Given the description of an element on the screen output the (x, y) to click on. 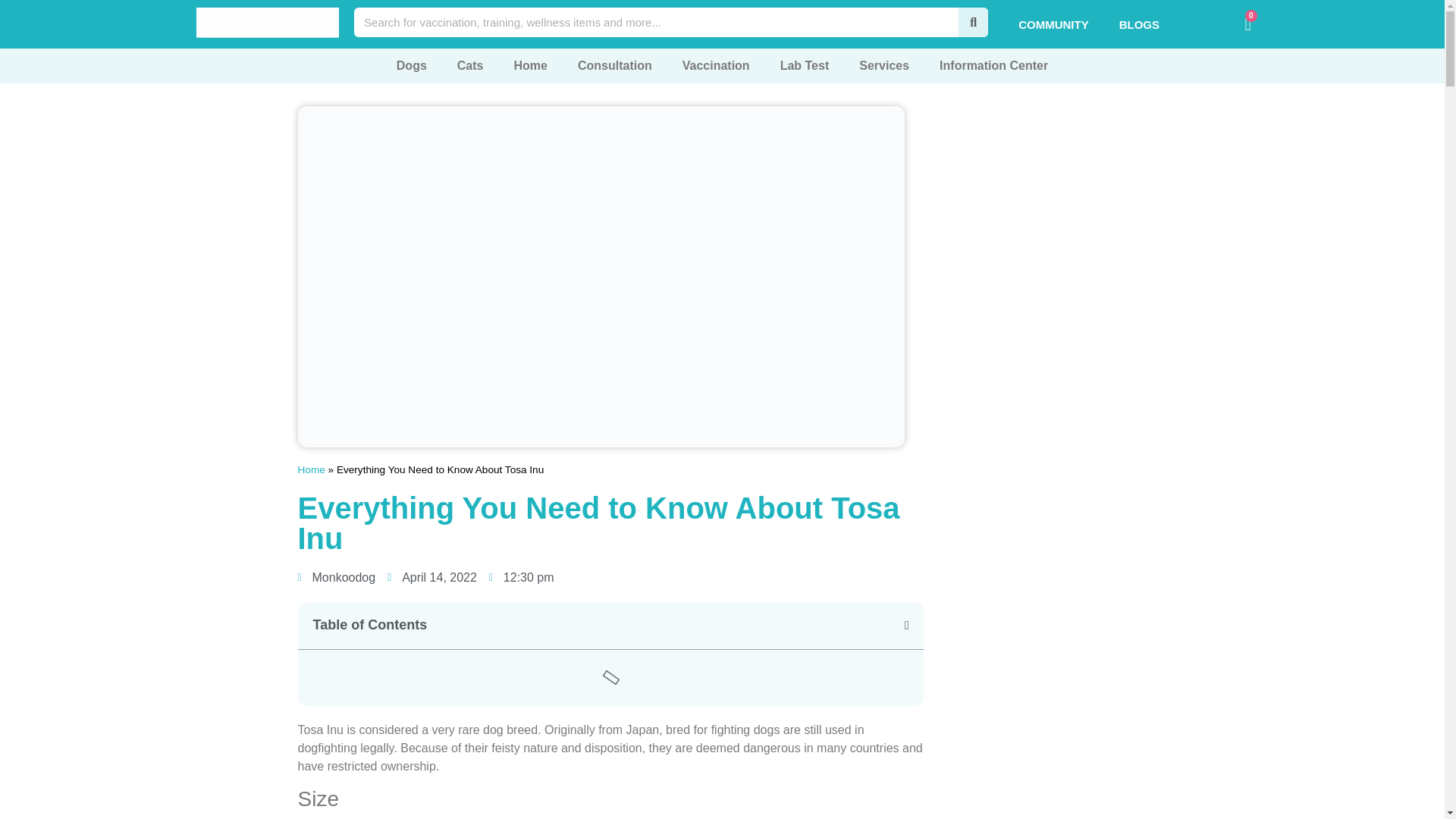
COMMUNITY (1053, 24)
Best Veterinary Service in India (267, 22)
BLOGS (1138, 24)
